Given the description of an element on the screen output the (x, y) to click on. 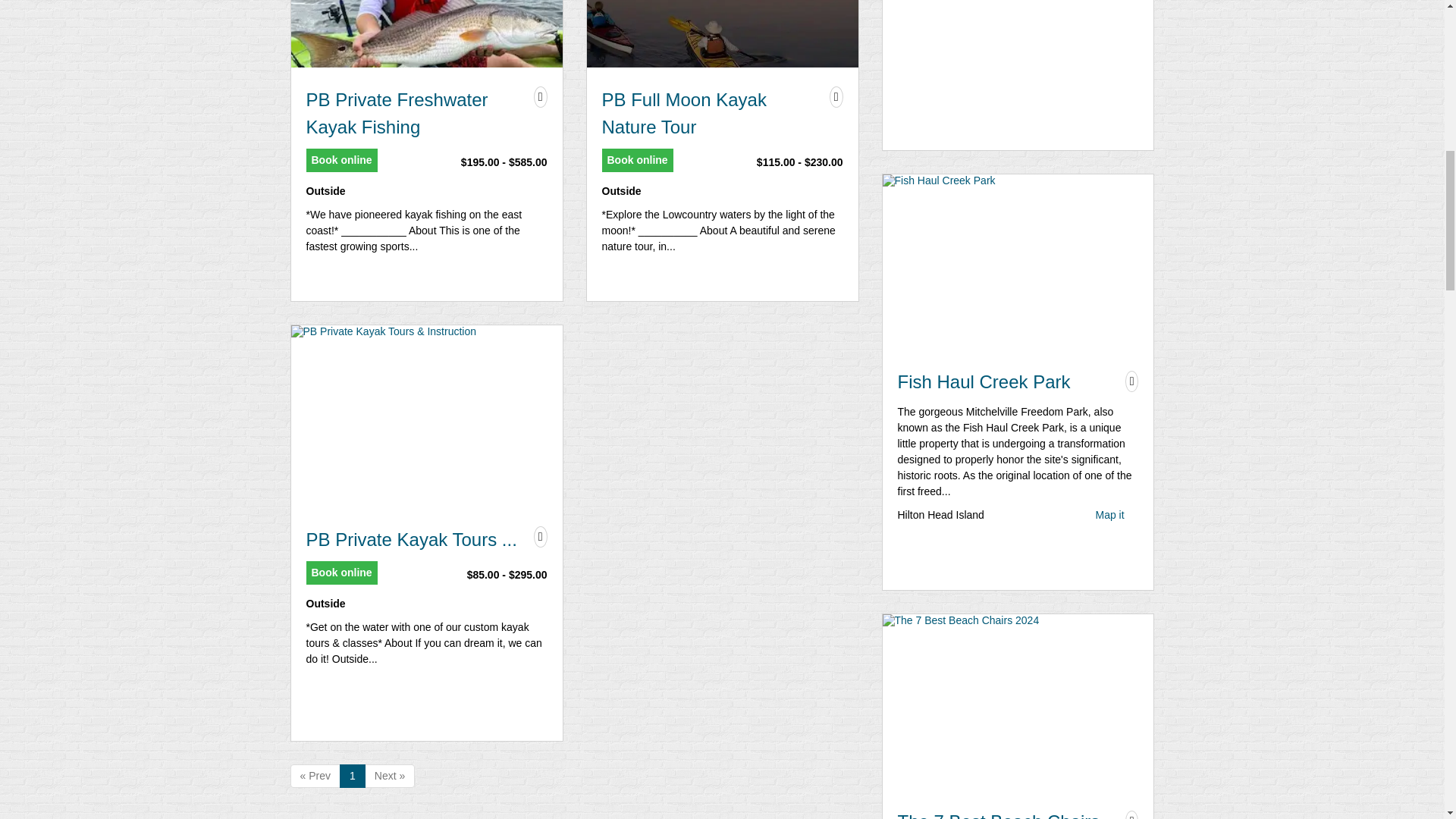
PB Full Moon Kayak Nature Tour (712, 113)
PB Private Freshwater Kayak Fishing (415, 113)
Book online (341, 159)
Advertisement (1018, 74)
Book online (637, 159)
